Given the description of an element on the screen output the (x, y) to click on. 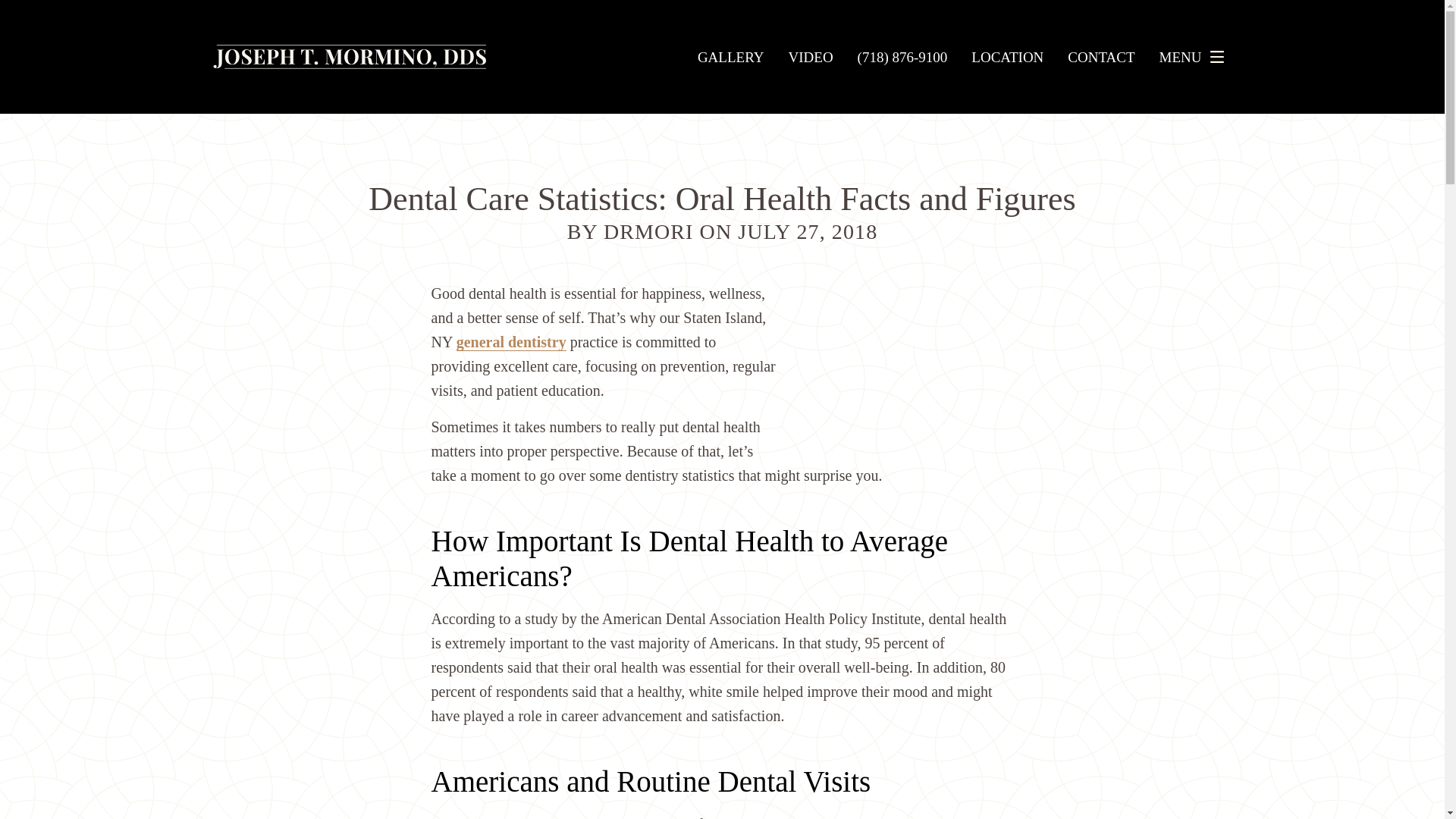
GALLERY (730, 56)
VIDEO (810, 56)
general dentistry (511, 342)
MENU (1194, 56)
CONTACT (1100, 56)
LOCATION (1007, 56)
